Given the description of an element on the screen output the (x, y) to click on. 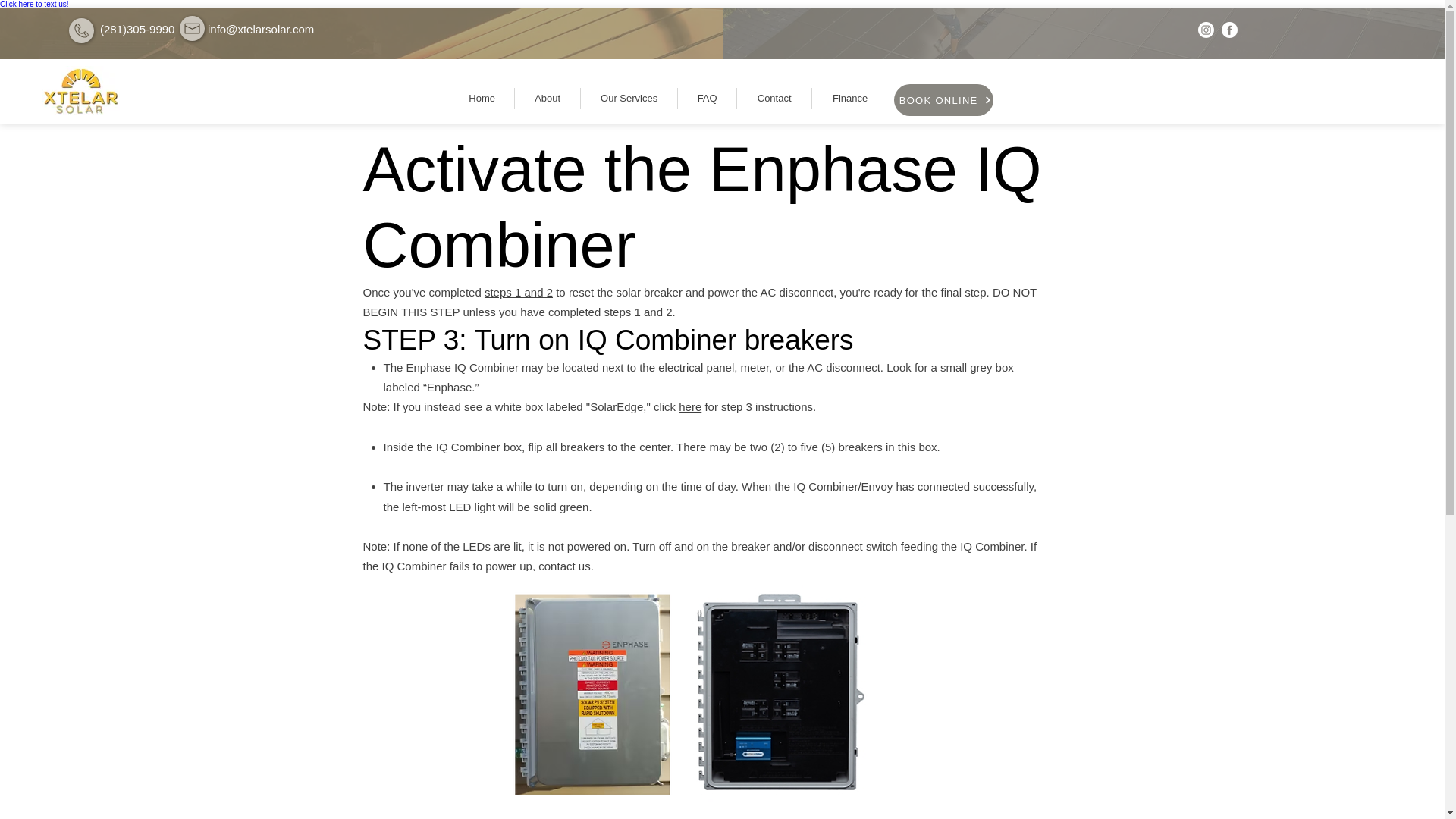
BOOK ONLINE (942, 100)
Click here to text us! (34, 4)
FAQ (707, 97)
About (547, 97)
Our Services (628, 97)
steps 1 and 2 (518, 291)
Contact (773, 97)
Home (481, 97)
here (689, 406)
